Given the description of an element on the screen output the (x, y) to click on. 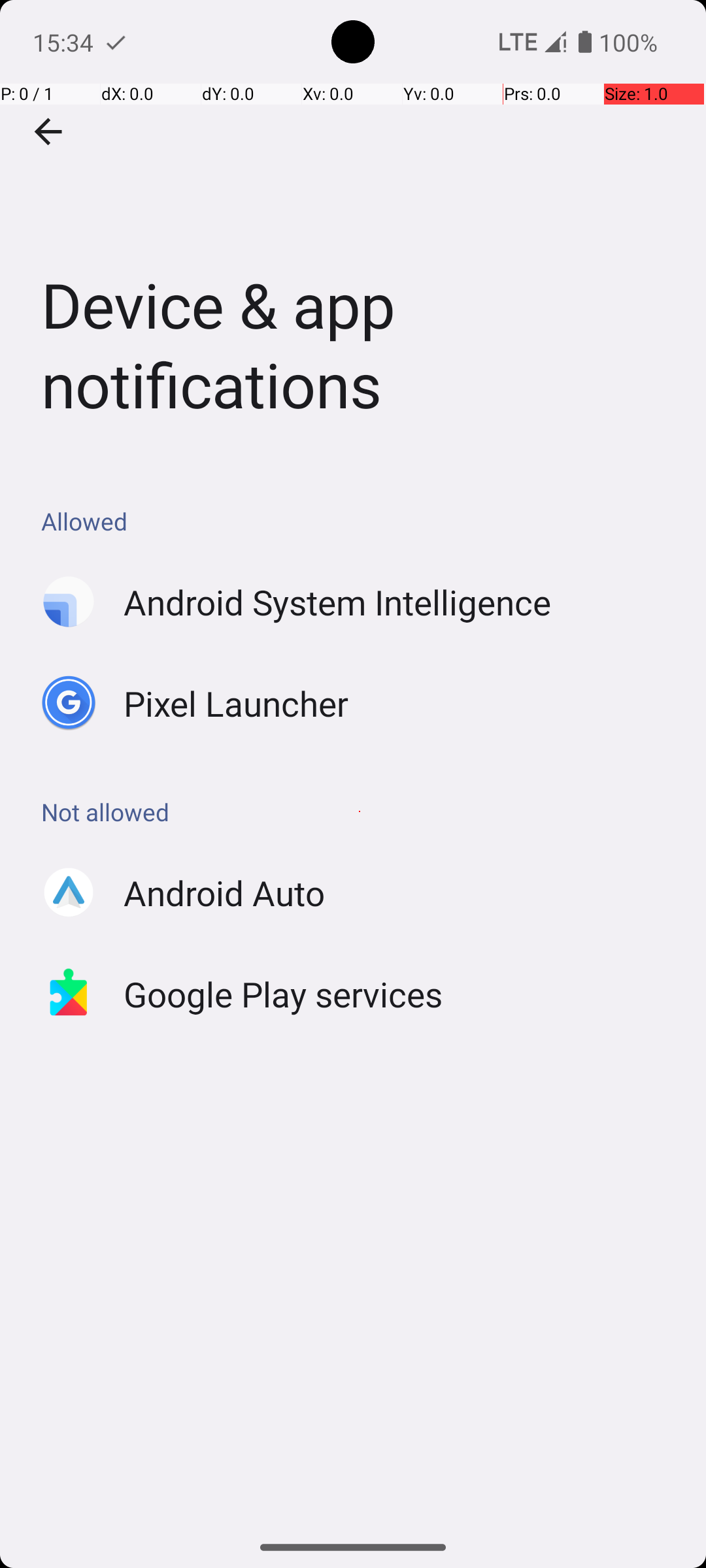
Allowed Element type: android.widget.TextView (359, 520)
Android System Intelligence Element type: android.widget.TextView (337, 601)
Pixel Launcher Element type: android.widget.TextView (236, 703)
Not allowed Element type: android.widget.TextView (359, 811)
Google Play services Element type: android.widget.TextView (283, 993)
